Given the description of an element on the screen output the (x, y) to click on. 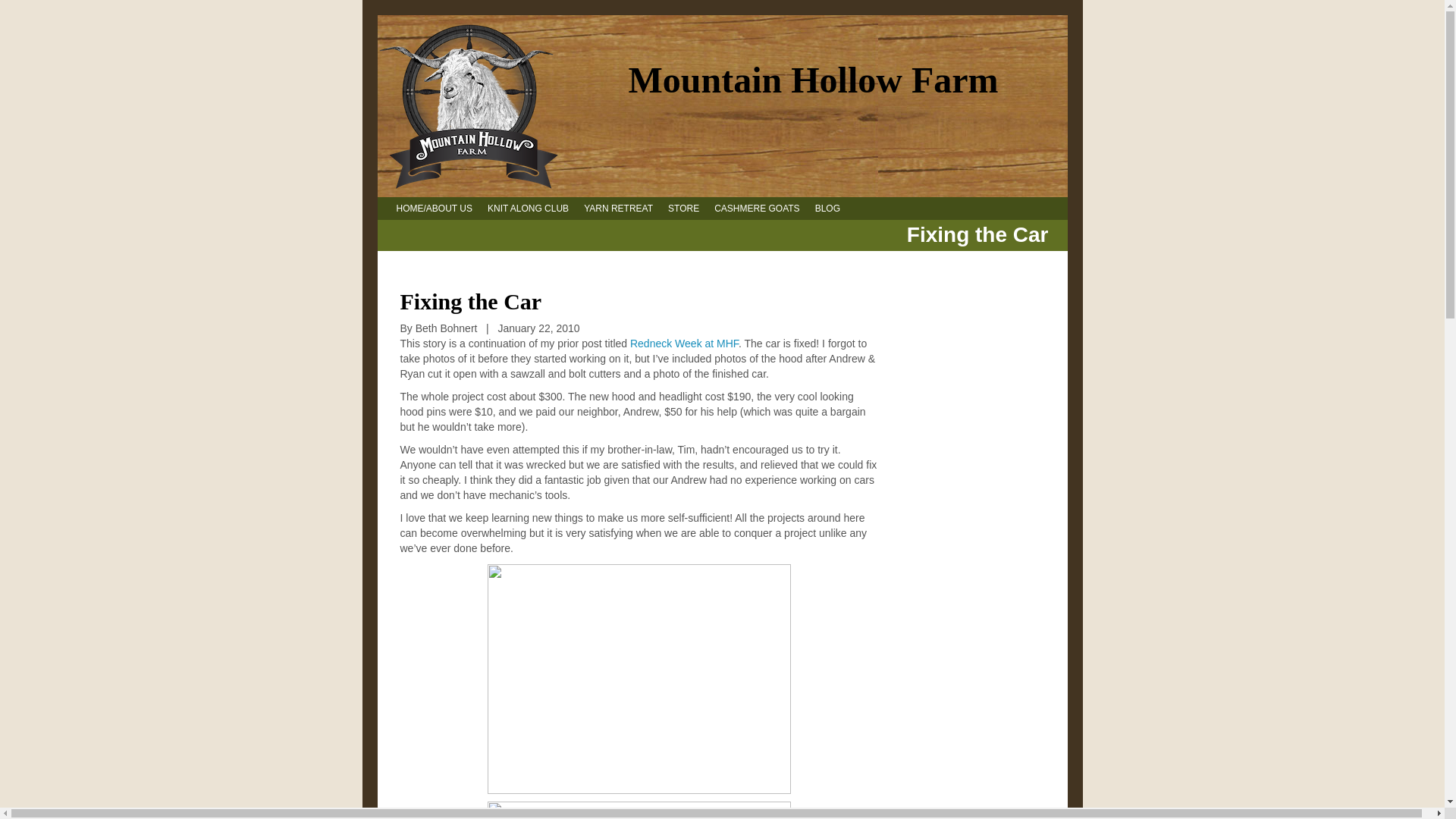
BLOG (827, 208)
YARN RETREAT (617, 208)
Store (683, 208)
Knit Along Club (528, 208)
Cashmere Goats (756, 208)
Blog (827, 208)
KNIT ALONG CLUB (528, 208)
CASHMERE GOATS (756, 208)
Redneck Week at MHF (684, 343)
STORE (683, 208)
